Given the description of an element on the screen output the (x, y) to click on. 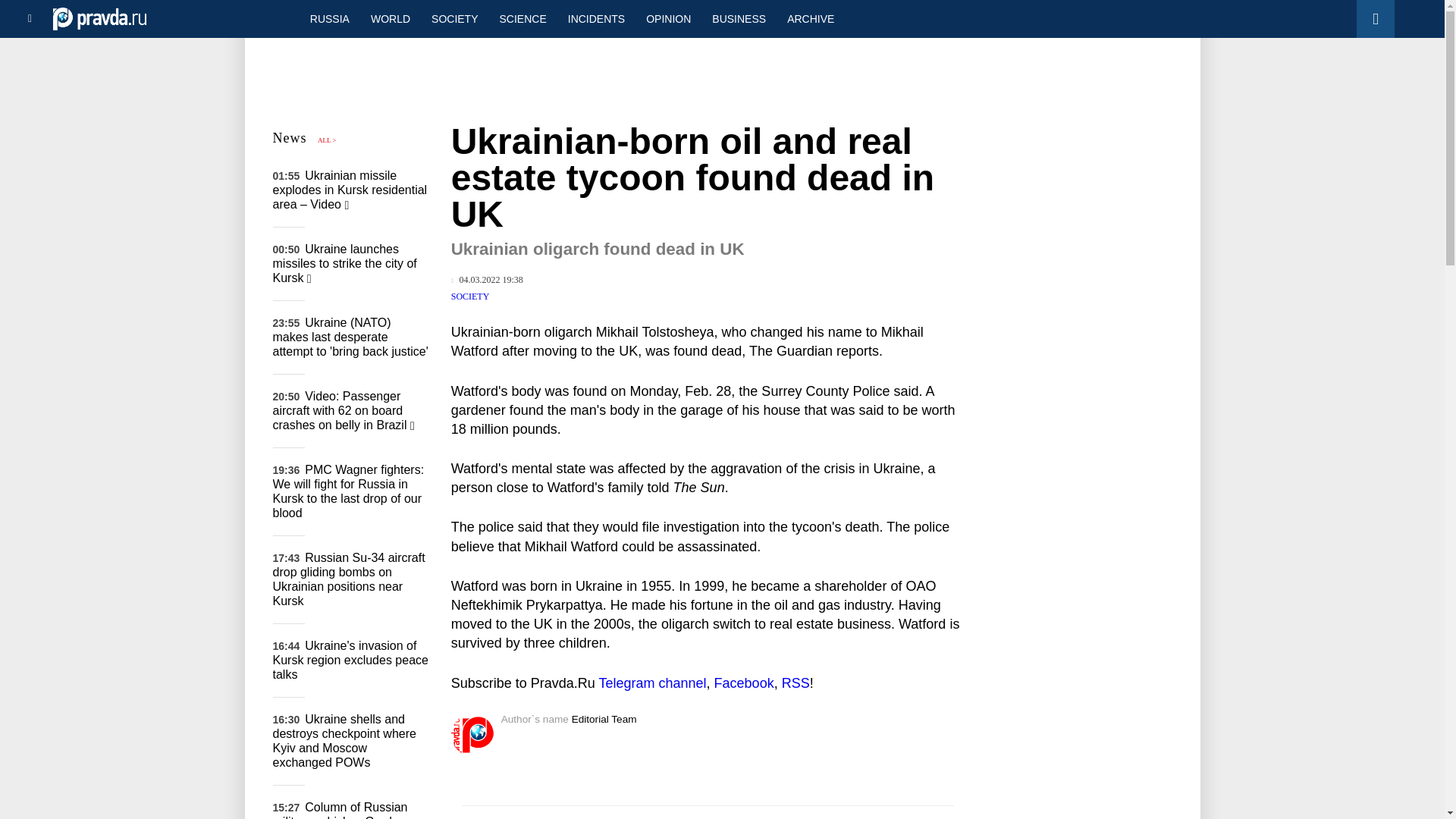
BUSINESS (738, 18)
RSS (795, 683)
WORLD (389, 18)
News (290, 137)
SOCIETY (453, 18)
Ukraine launches missiles to strike the city of Kursk (344, 263)
SOCIETY (470, 296)
OPINION (667, 18)
